Given the description of an element on the screen output the (x, y) to click on. 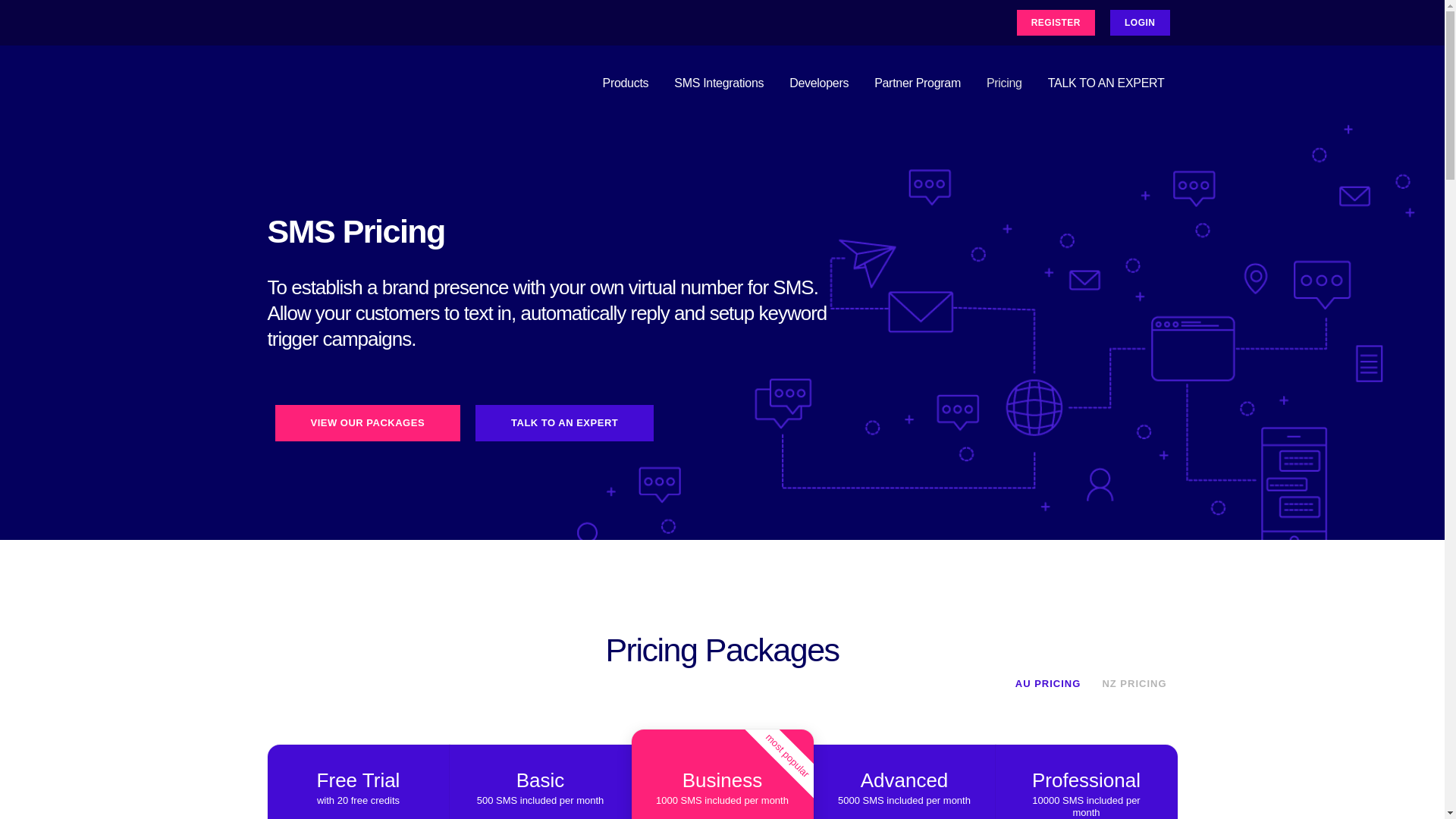
Products Element type: text (625, 83)
Pricing Element type: text (1004, 83)
Partner Program Element type: text (917, 83)
REGISTER Element type: text (1055, 22)
LOGIN Element type: text (1140, 22)
Developers Element type: text (818, 83)
TALK TO AN EXPERT Element type: text (564, 422)
AU PRICING Element type: text (1053, 683)
NZ PRICING Element type: text (1133, 683)
TALK TO AN EXPERT Element type: text (1106, 83)
VIEW OUR PACKAGES Element type: text (367, 422)
SMS Integrations Element type: text (718, 83)
